Given the description of an element on the screen output the (x, y) to click on. 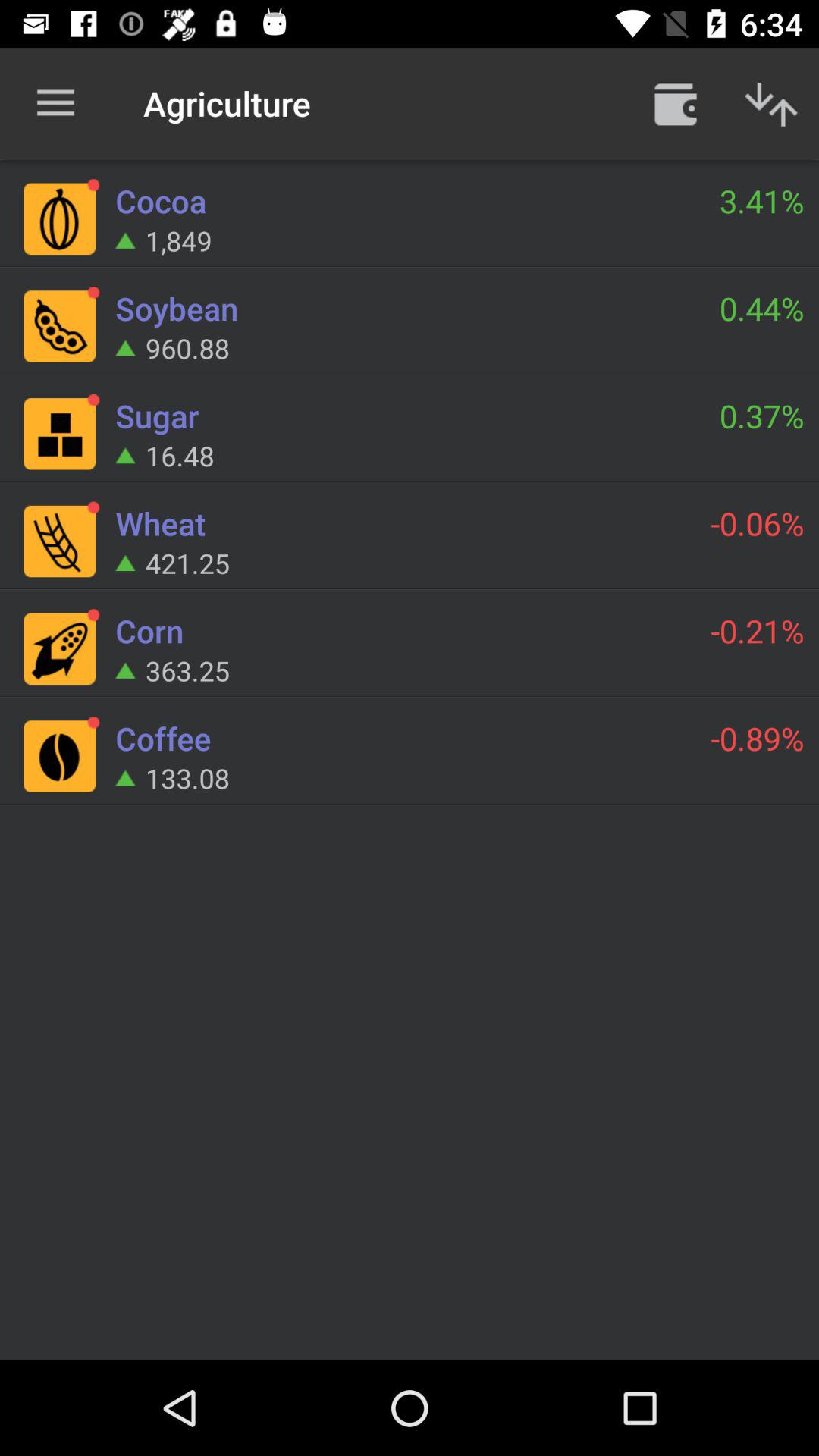
select item next to agriculture item (55, 103)
